Given the description of an element on the screen output the (x, y) to click on. 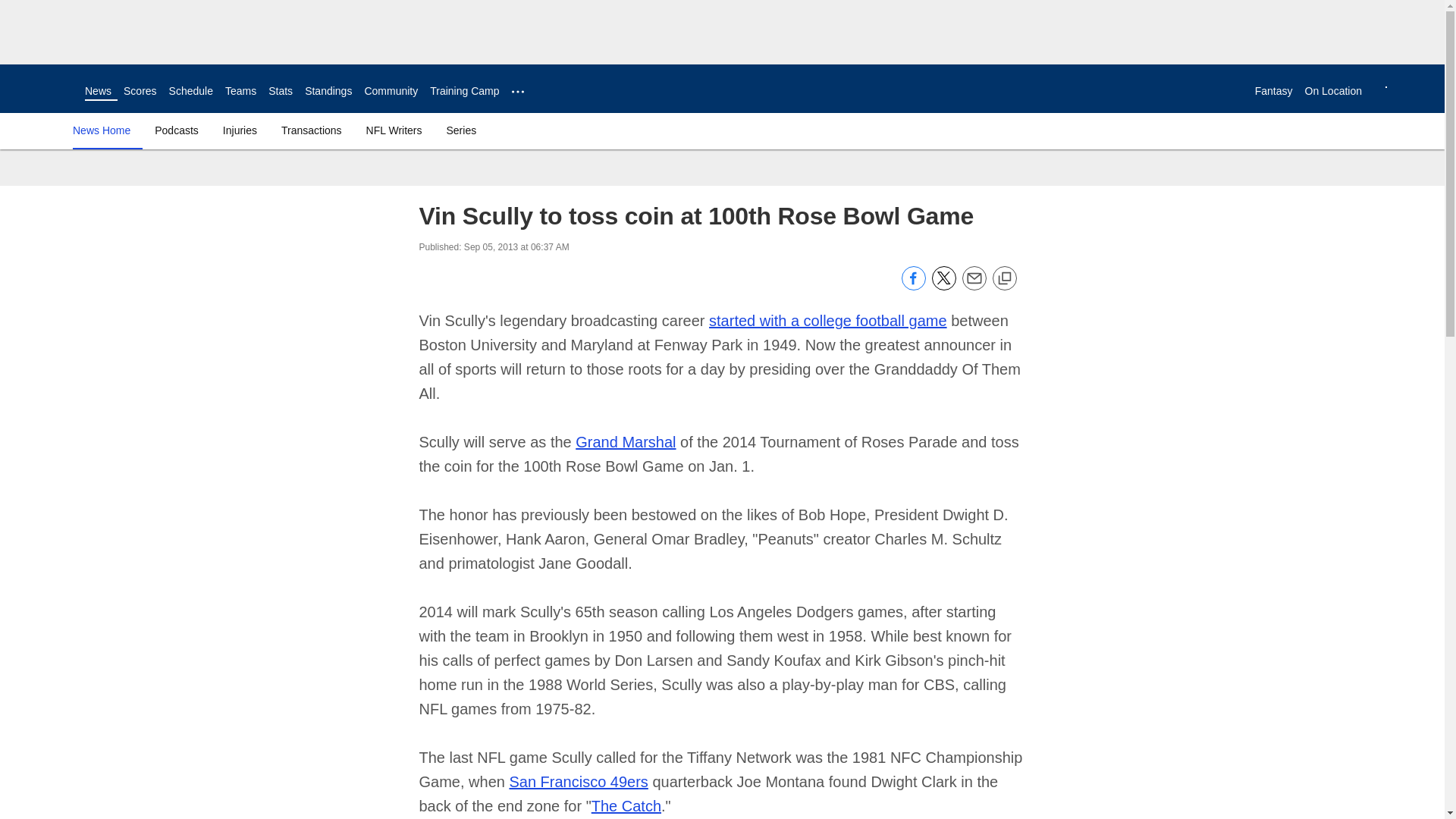
News (98, 91)
Schedule (190, 91)
Teams (240, 91)
News (98, 91)
Link to NFL homepage (42, 88)
Schedule (190, 91)
Scores (140, 91)
Stats (279, 91)
Teams (240, 91)
Scores (140, 91)
